Given the description of an element on the screen output the (x, y) to click on. 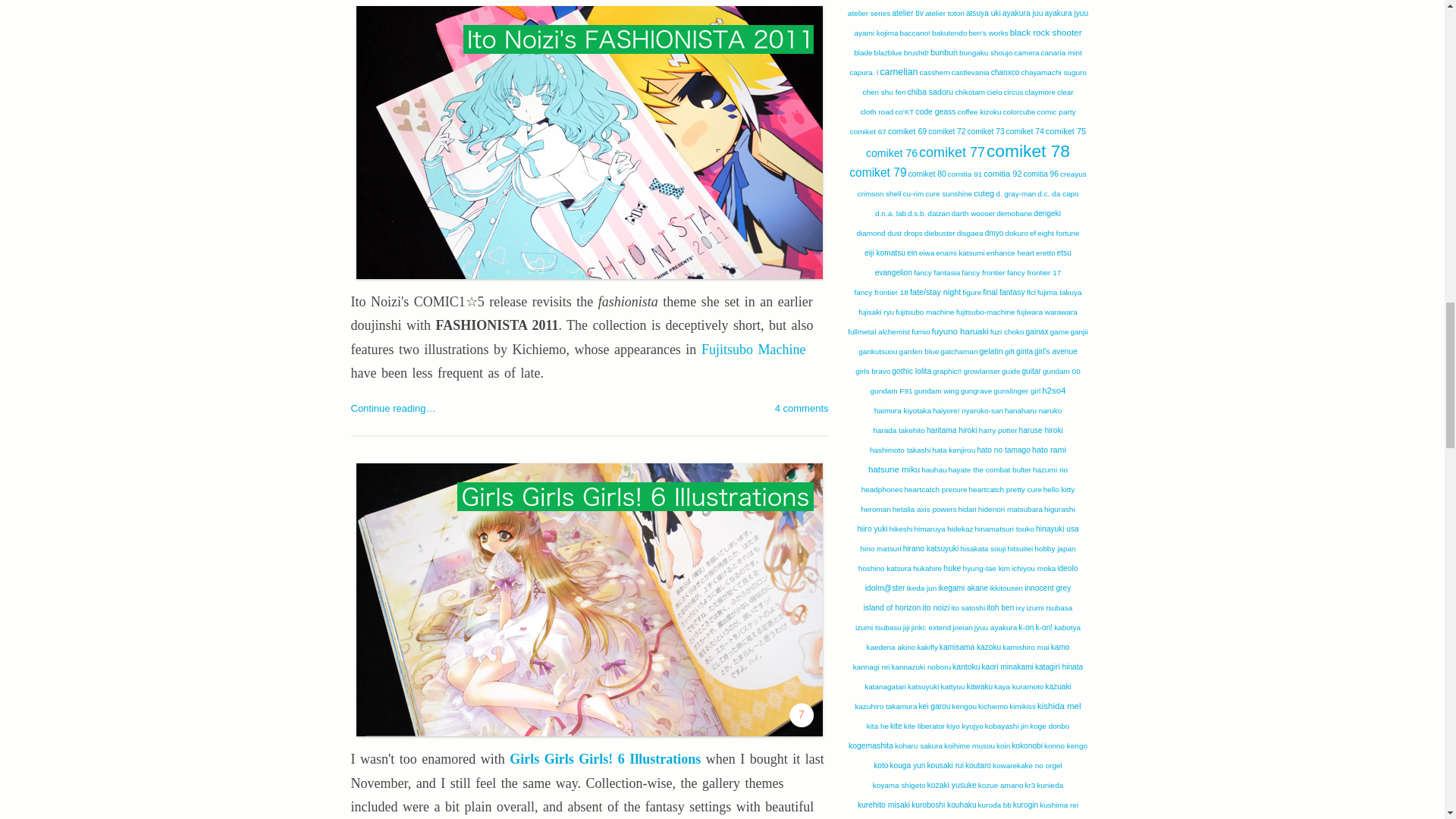
View comments (801, 408)
